Given the description of an element on the screen output the (x, y) to click on. 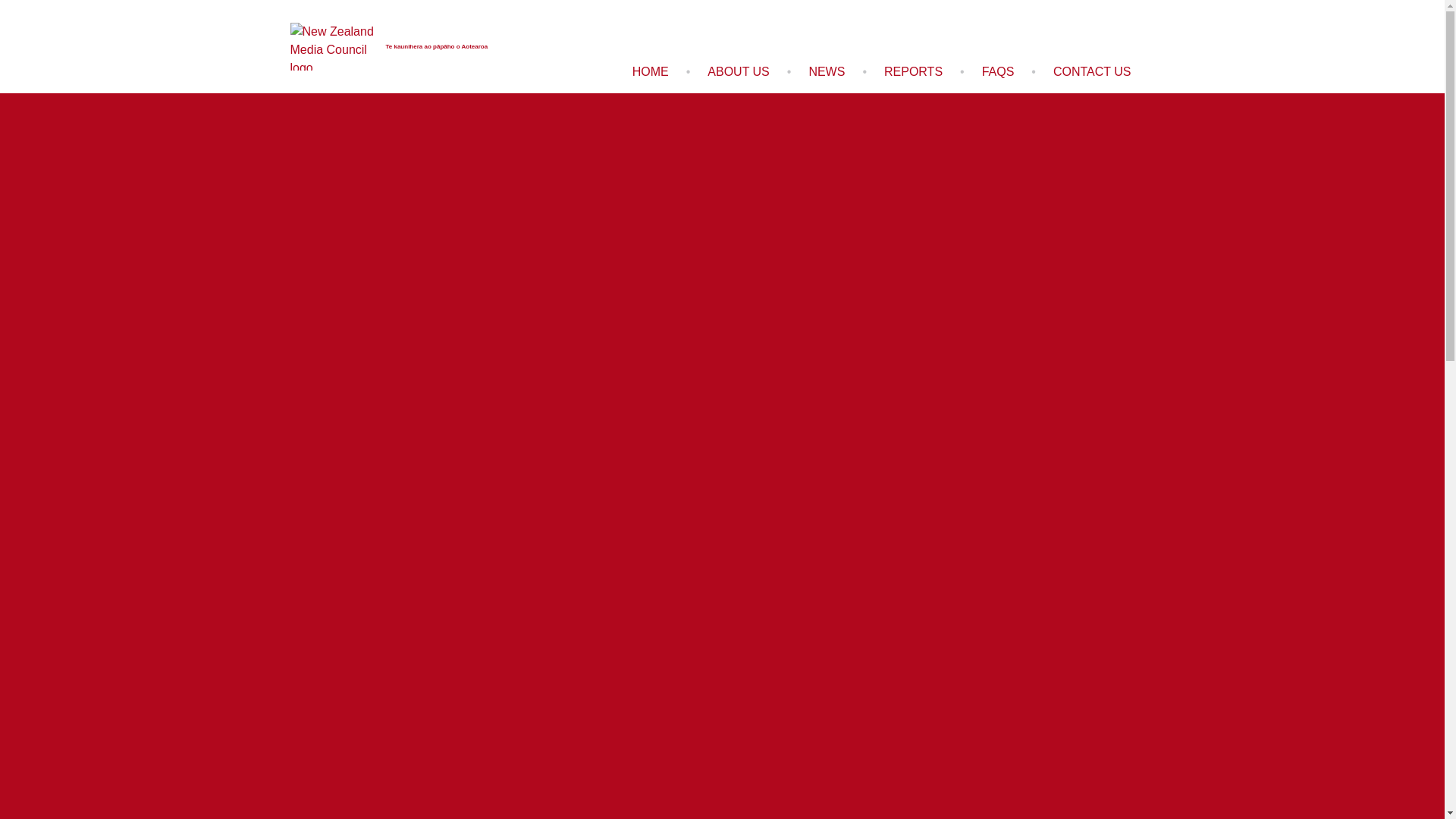
Frequently Asked Questions (998, 71)
back to homepage (650, 71)
About (737, 71)
back to homepage (388, 46)
Get in touch (1092, 71)
ABOUT US (737, 71)
FAQS (998, 71)
News (826, 71)
HOME (650, 71)
NEWS (826, 71)
Reports (912, 71)
REPORTS (912, 71)
CONTACT US (1092, 71)
